Given the description of an element on the screen output the (x, y) to click on. 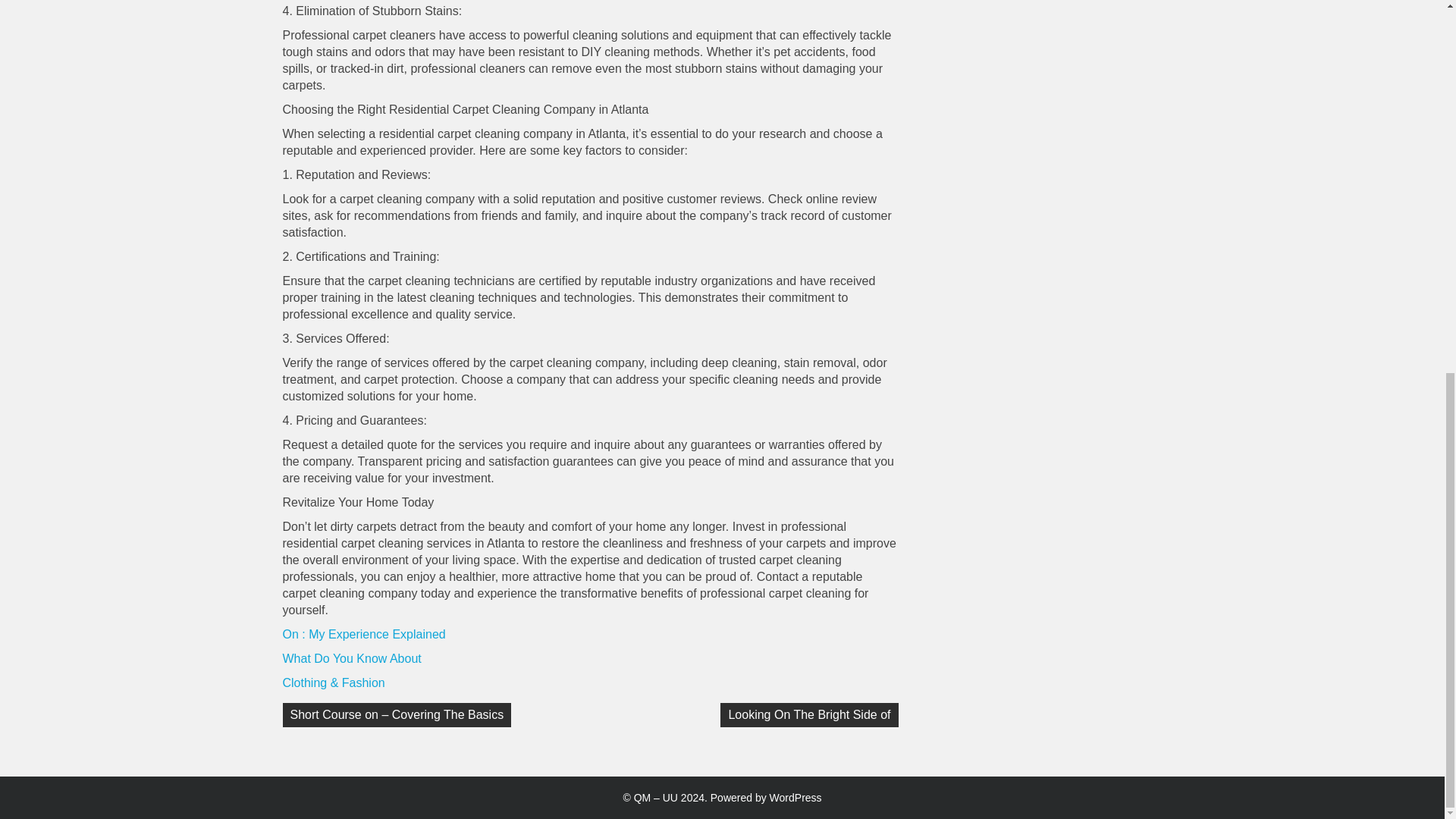
On : My Experience Explained (363, 634)
What Do You Know About (351, 658)
Looking On The Bright Side of (809, 714)
